Given the description of an element on the screen output the (x, y) to click on. 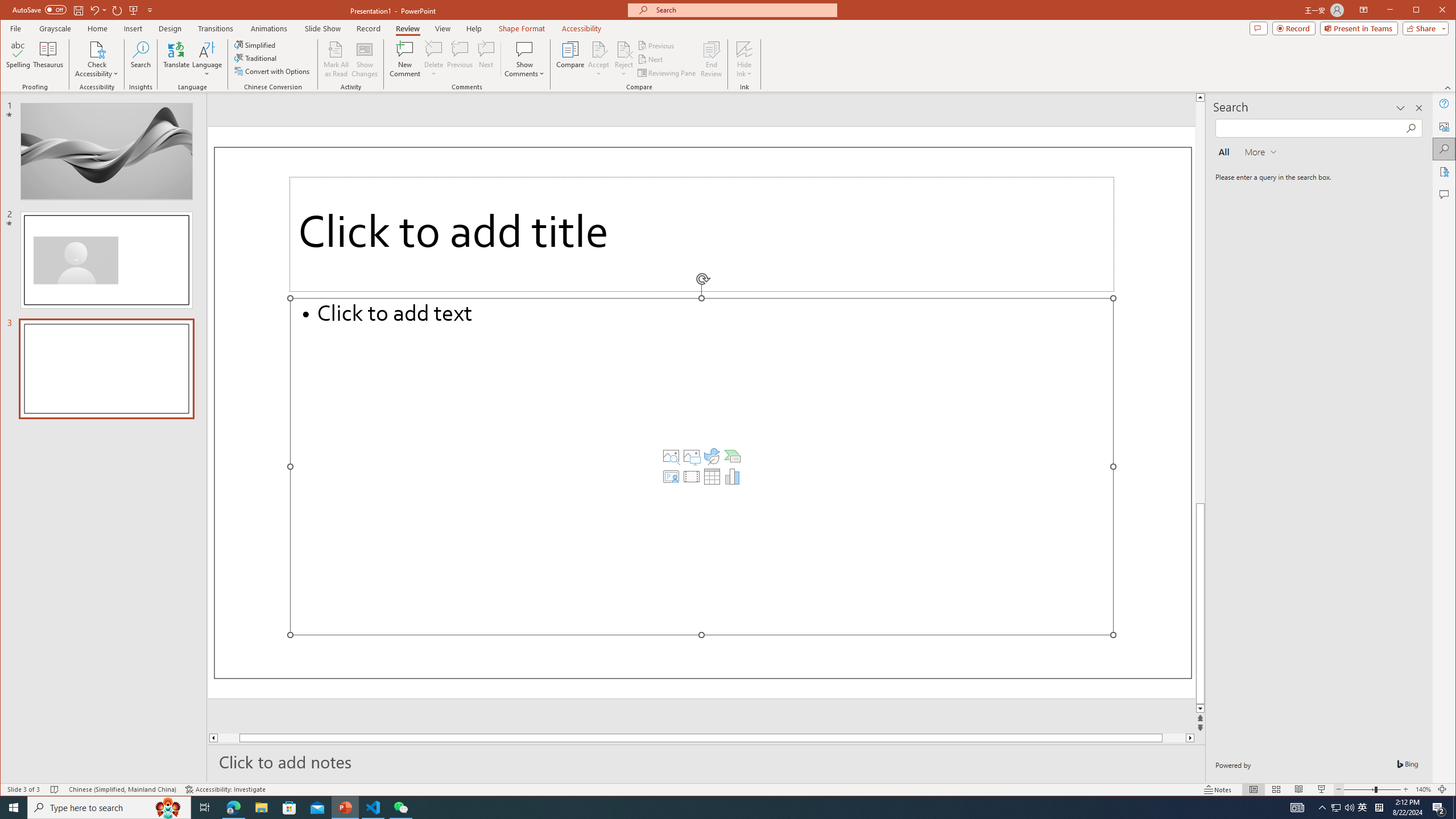
Slide (106, 368)
Grayscale (55, 28)
Mark All as Read (335, 59)
Check Accessibility (96, 48)
Accept (598, 59)
Insert Table (711, 476)
